Given the description of an element on the screen output the (x, y) to click on. 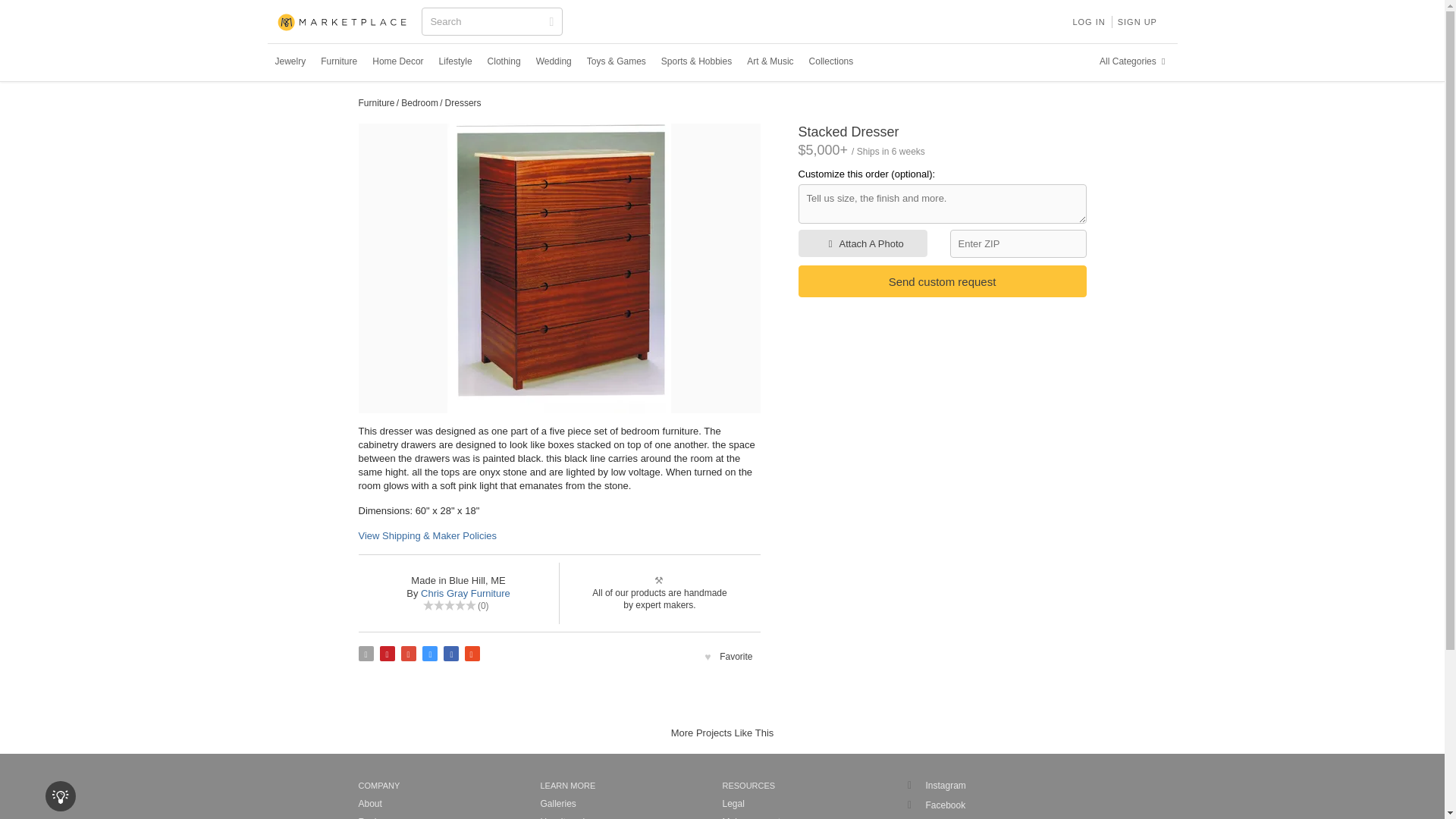
Jewelry (289, 61)
CUSTOMMADE (342, 22)
All Categories (1134, 61)
Custom Jewelry (289, 61)
SIGN UP (1137, 21)
LOG IN (1087, 21)
Log in to CustomMade (1087, 21)
